Given the description of an element on the screen output the (x, y) to click on. 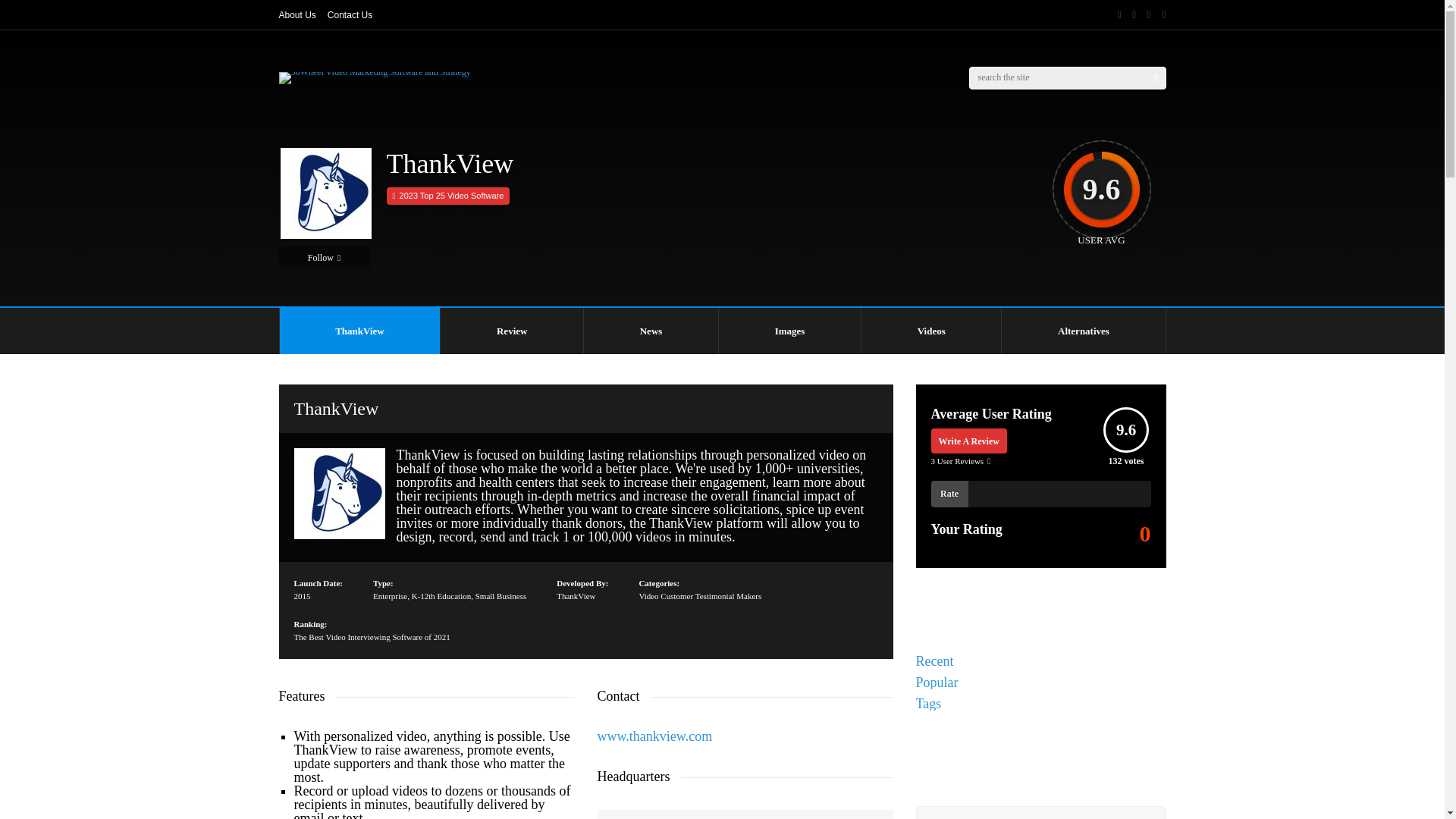
News (650, 330)
Images (789, 330)
Alternatives (1082, 330)
Videos (931, 330)
ThankView (359, 330)
Follow (324, 257)
Review (512, 330)
50Wheel Video Marketing Software and Strategy (374, 71)
